Given the description of an element on the screen output the (x, y) to click on. 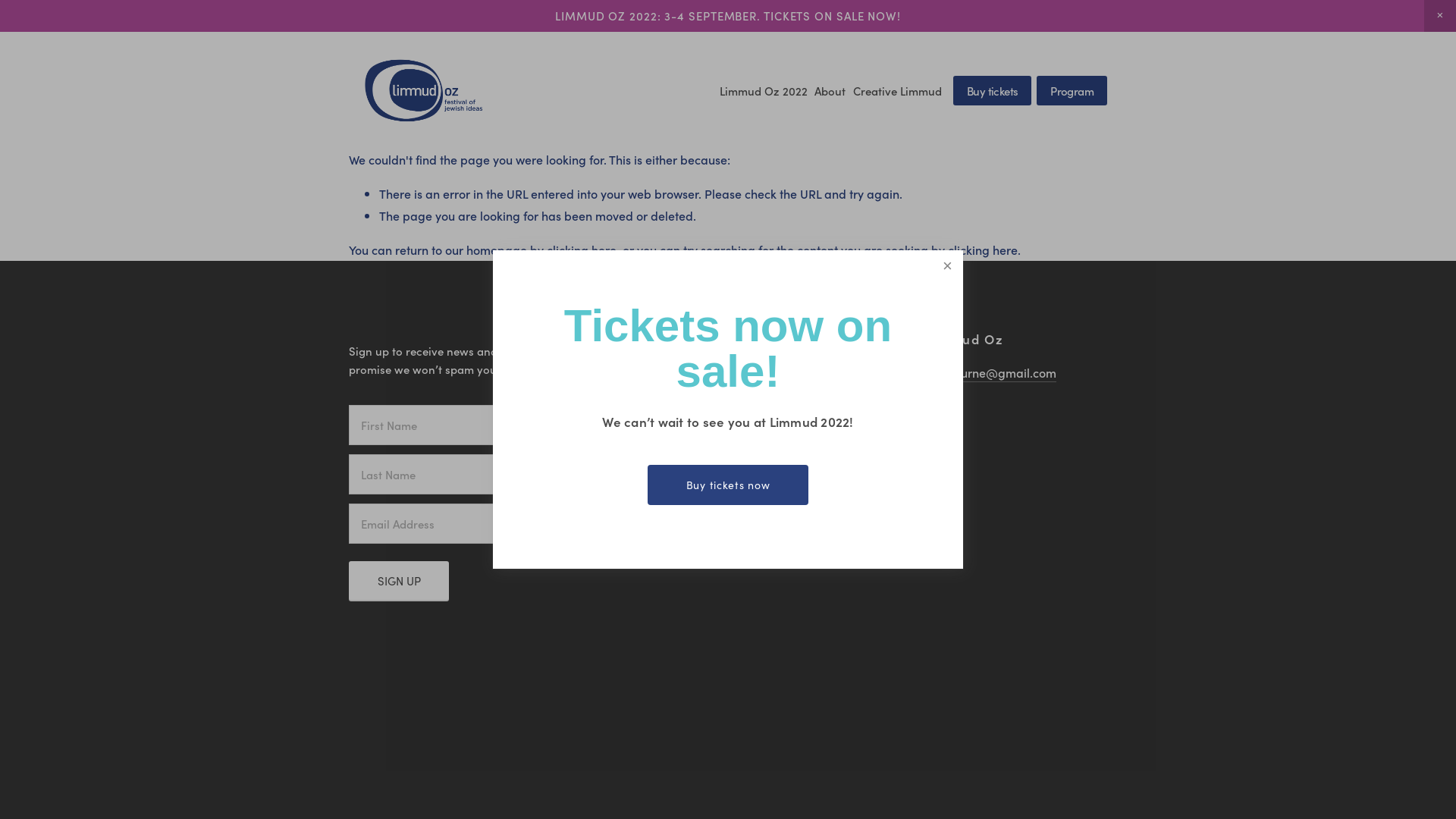
limmudozmelbourne@gmail.com Element type: text (963, 373)
SIGN UP Element type: text (398, 580)
Creative Limmud Element type: text (897, 90)
About Element type: text (829, 90)
Program Element type: text (1071, 90)
Squarespace Element type: text (908, 428)
Limmud Oz 2022 Element type: text (763, 90)
clicking here Element type: text (581, 249)
Buy tickets now Element type: text (727, 484)
Buy tickets Element type: text (992, 90)
clicking here Element type: text (982, 249)
